Given the description of an element on the screen output the (x, y) to click on. 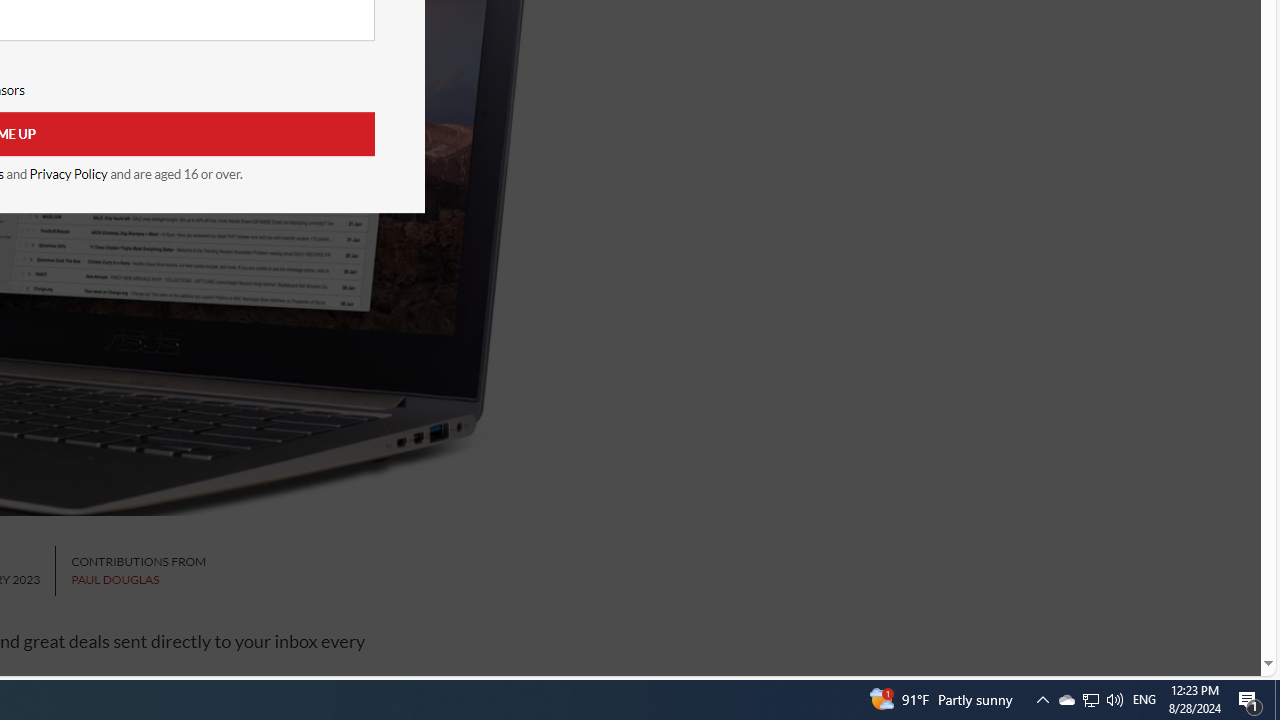
PAUL DOUGLAS (115, 579)
Privacy Policy (68, 174)
